Given the description of an element on the screen output the (x, y) to click on. 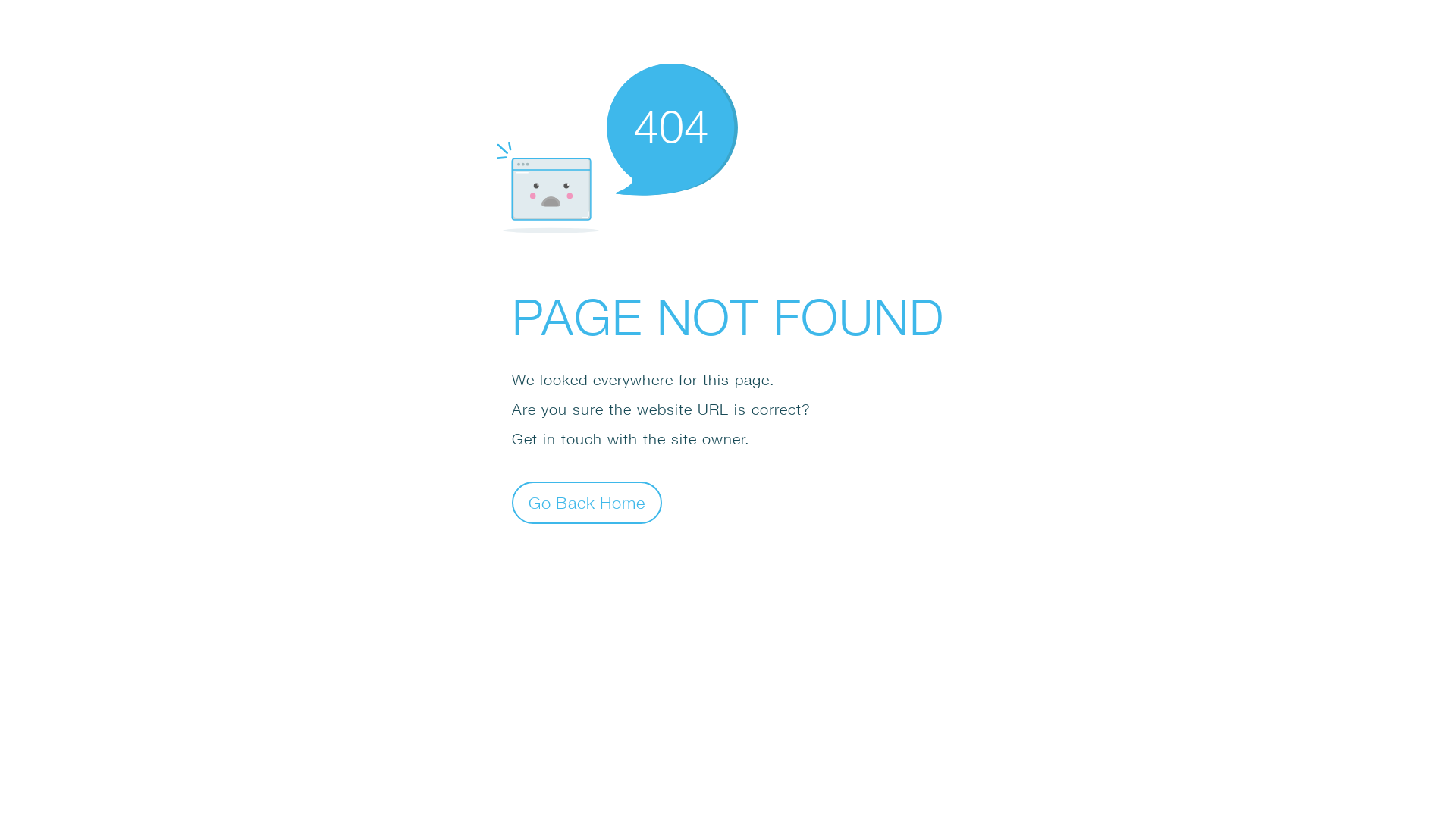
Go Back Home Element type: text (586, 502)
